Given the description of an element on the screen output the (x, y) to click on. 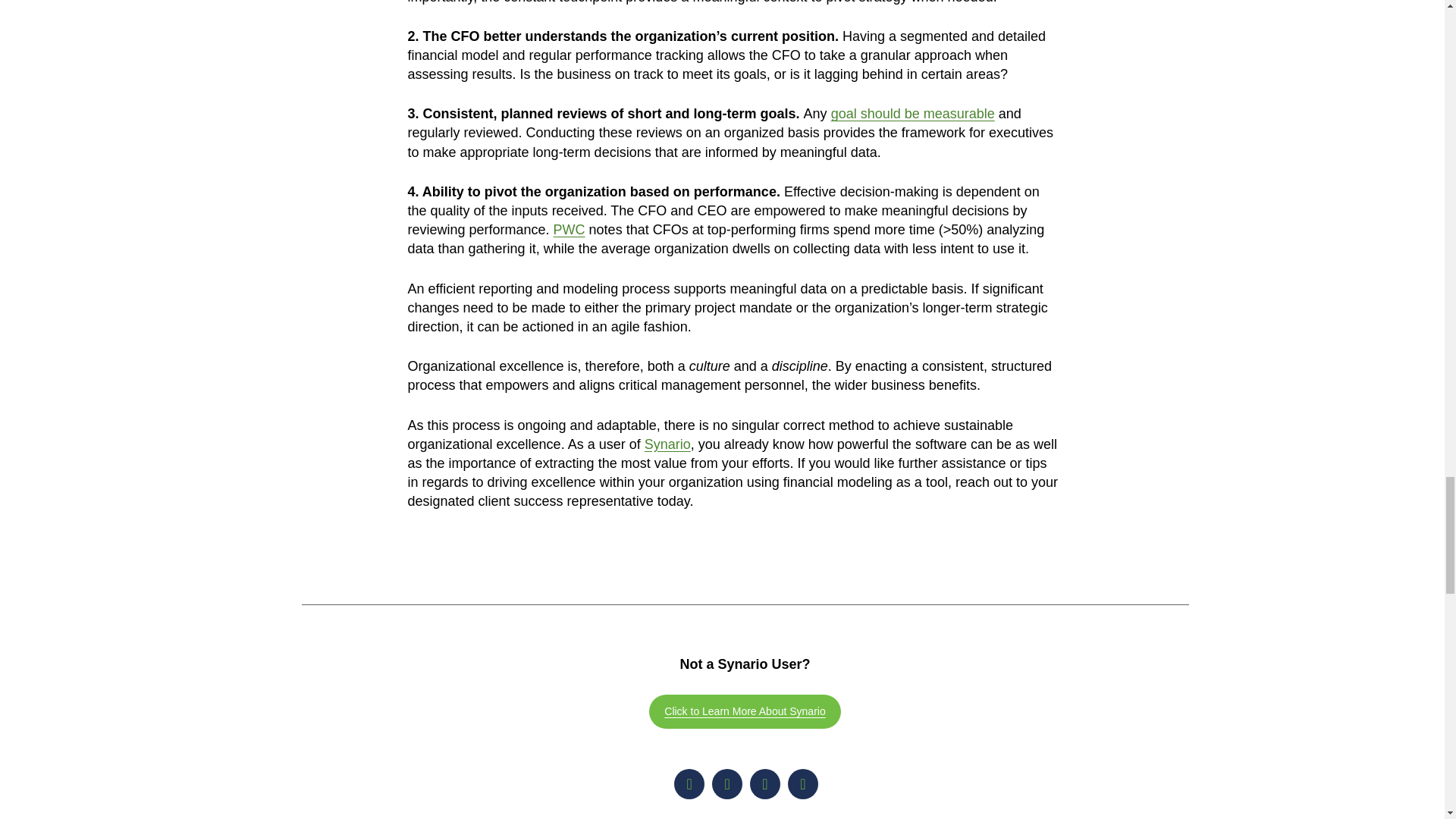
Click to Learn More About Synario (744, 711)
